Given the description of an element on the screen output the (x, y) to click on. 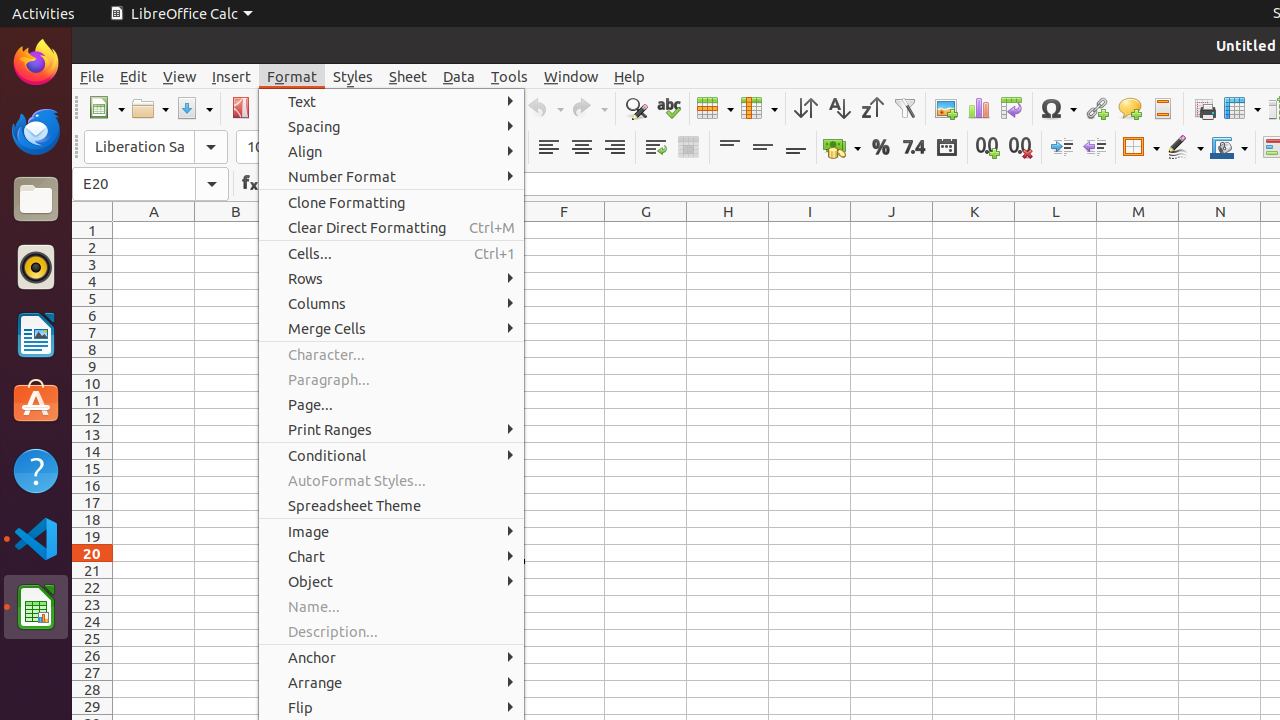
Visual Studio Code Element type: push-button (36, 538)
Print Ranges Element type: menu (391, 429)
Character... Element type: menu-item (391, 354)
K1 Element type: table-cell (974, 230)
Cells... Element type: menu-item (391, 253)
